Given the description of an element on the screen output the (x, y) to click on. 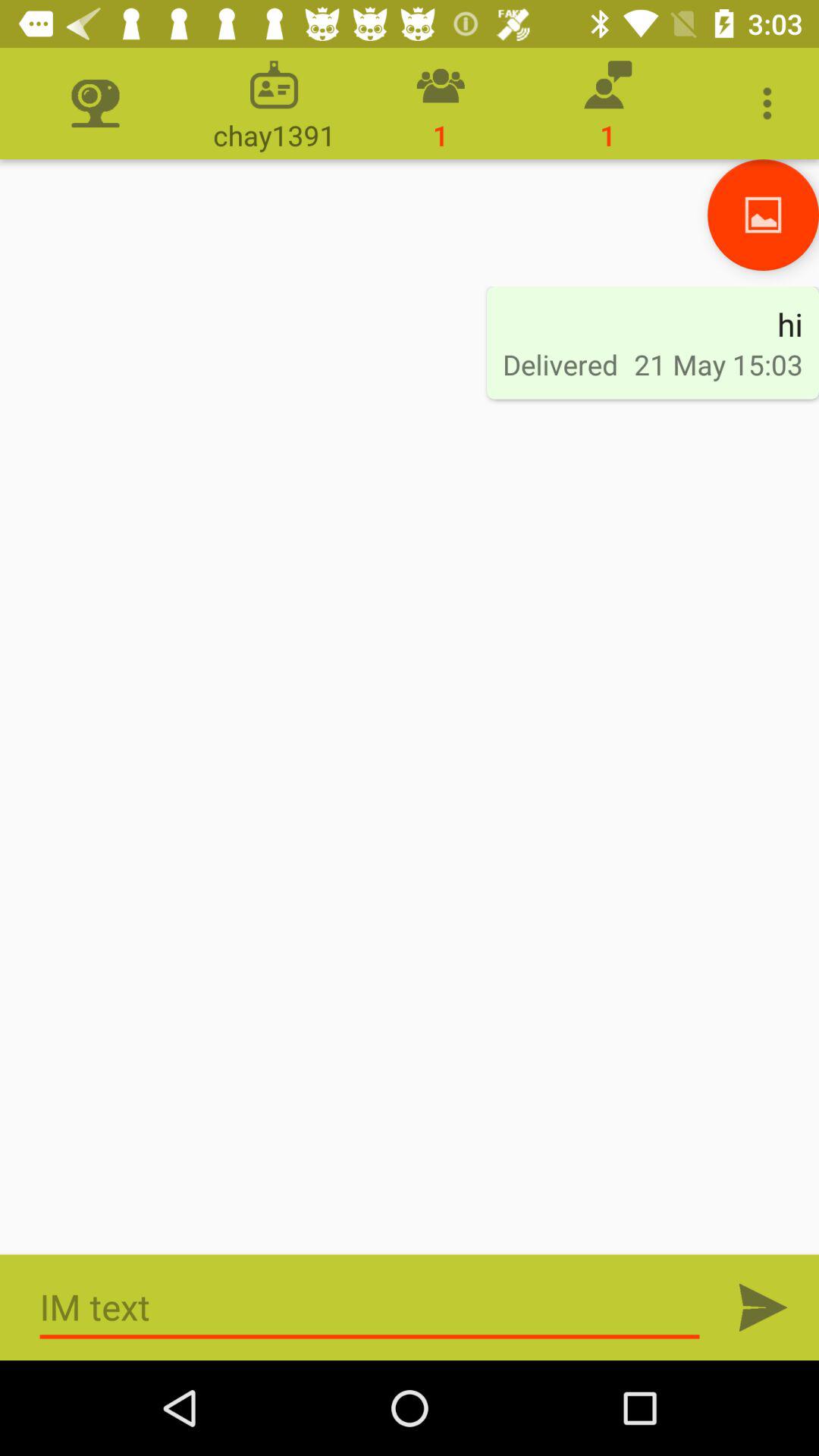
switch gallery option (763, 214)
